Given the description of an element on the screen output the (x, y) to click on. 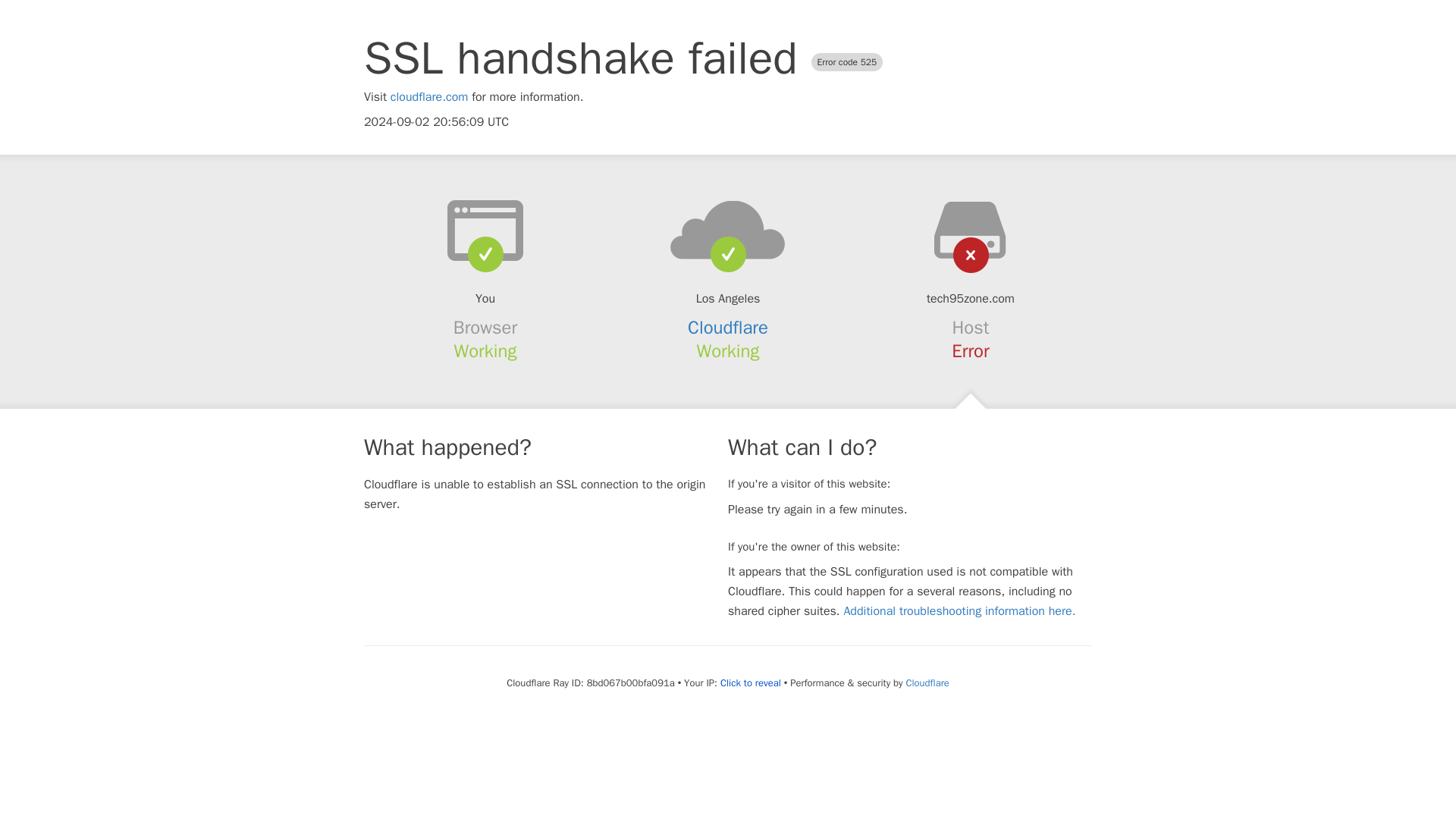
Cloudflare (927, 682)
Additional troubleshooting information here. (959, 611)
Cloudflare (727, 327)
cloudflare.com (429, 96)
Click to reveal (750, 683)
